Given the description of an element on the screen output the (x, y) to click on. 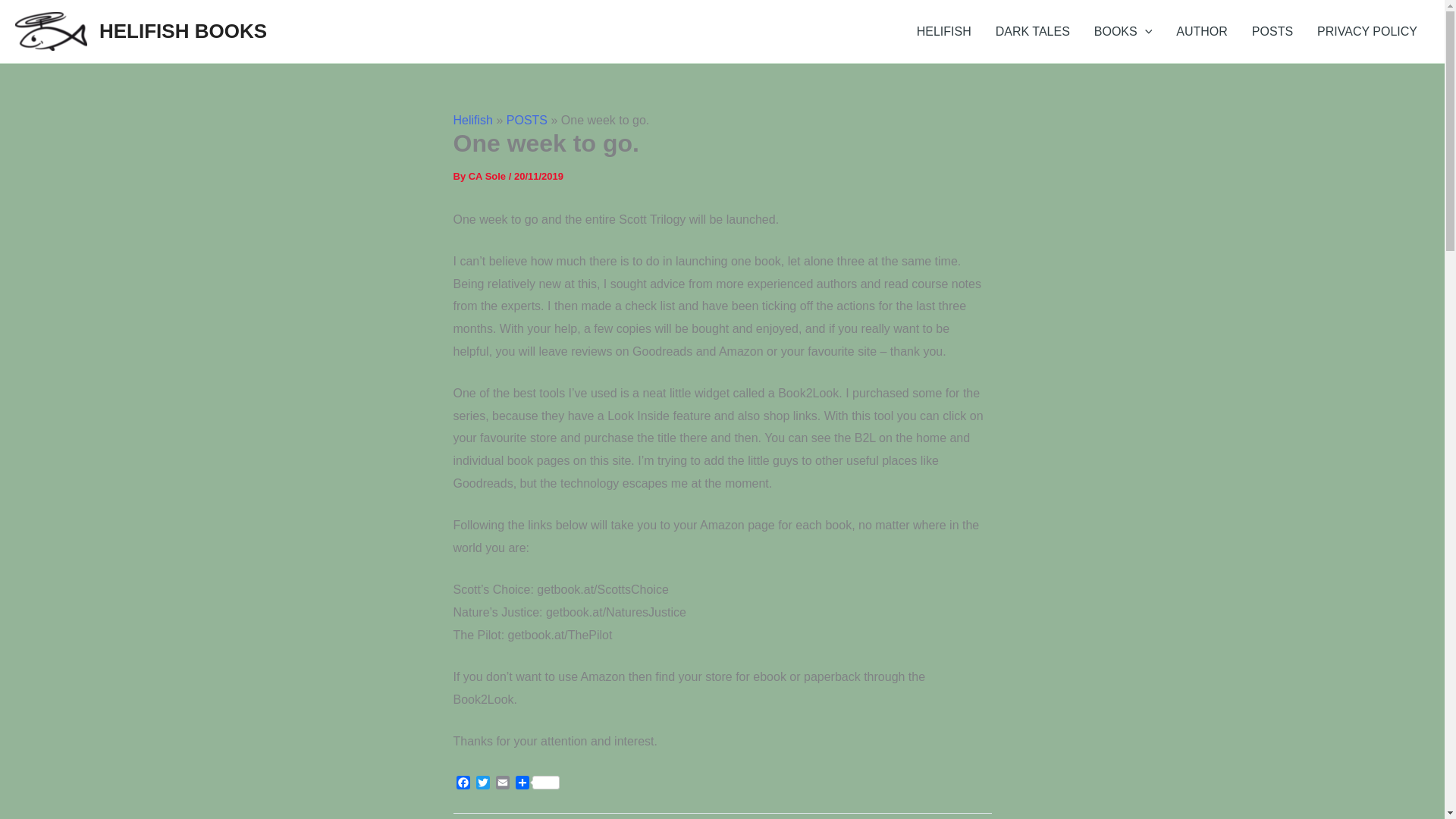
POSTS (526, 119)
CA Sole (488, 175)
Email (502, 783)
Email (502, 783)
Facebook (462, 783)
HELIFISH BOOKS (182, 30)
AUTHOR (1201, 31)
DARK TALES (1032, 31)
View all posts by CA Sole (488, 175)
Helifish (472, 119)
